Given the description of an element on the screen output the (x, y) to click on. 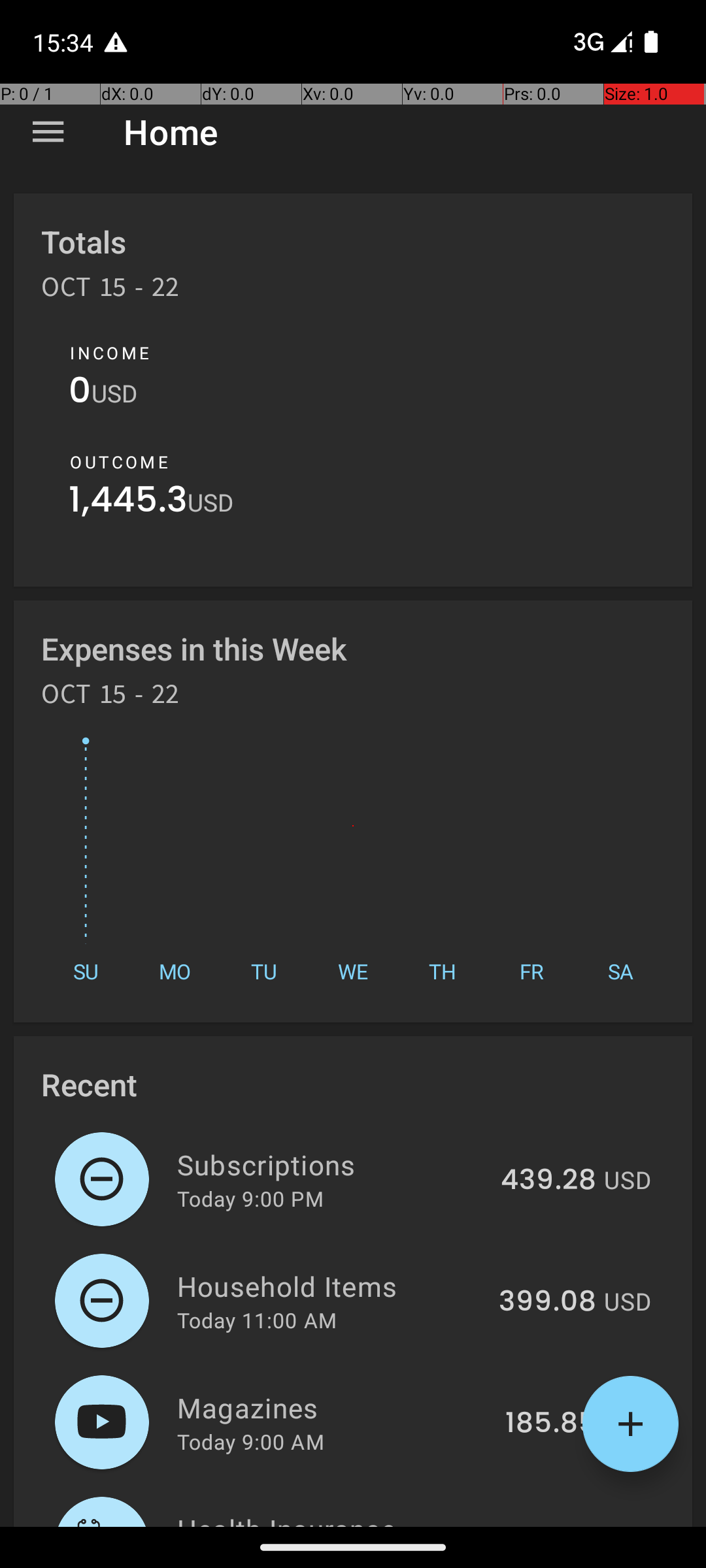
1,445.3 Element type: android.widget.TextView (127, 502)
Subscriptions Element type: android.widget.TextView (331, 1164)
Today 9:00 PM Element type: android.widget.TextView (250, 1198)
439.28 Element type: android.widget.TextView (548, 1180)
Household Items Element type: android.widget.TextView (330, 1285)
Today 11:00 AM Element type: android.widget.TextView (256, 1320)
399.08 Element type: android.widget.TextView (547, 1301)
Magazines Element type: android.widget.TextView (333, 1407)
Today 9:00 AM Element type: android.widget.TextView (250, 1441)
185.85 Element type: android.widget.TextView (550, 1423)
Health Insurance Element type: android.widget.TextView (338, 1518)
319.18 Element type: android.widget.TextView (554, 1524)
